Given the description of an element on the screen output the (x, y) to click on. 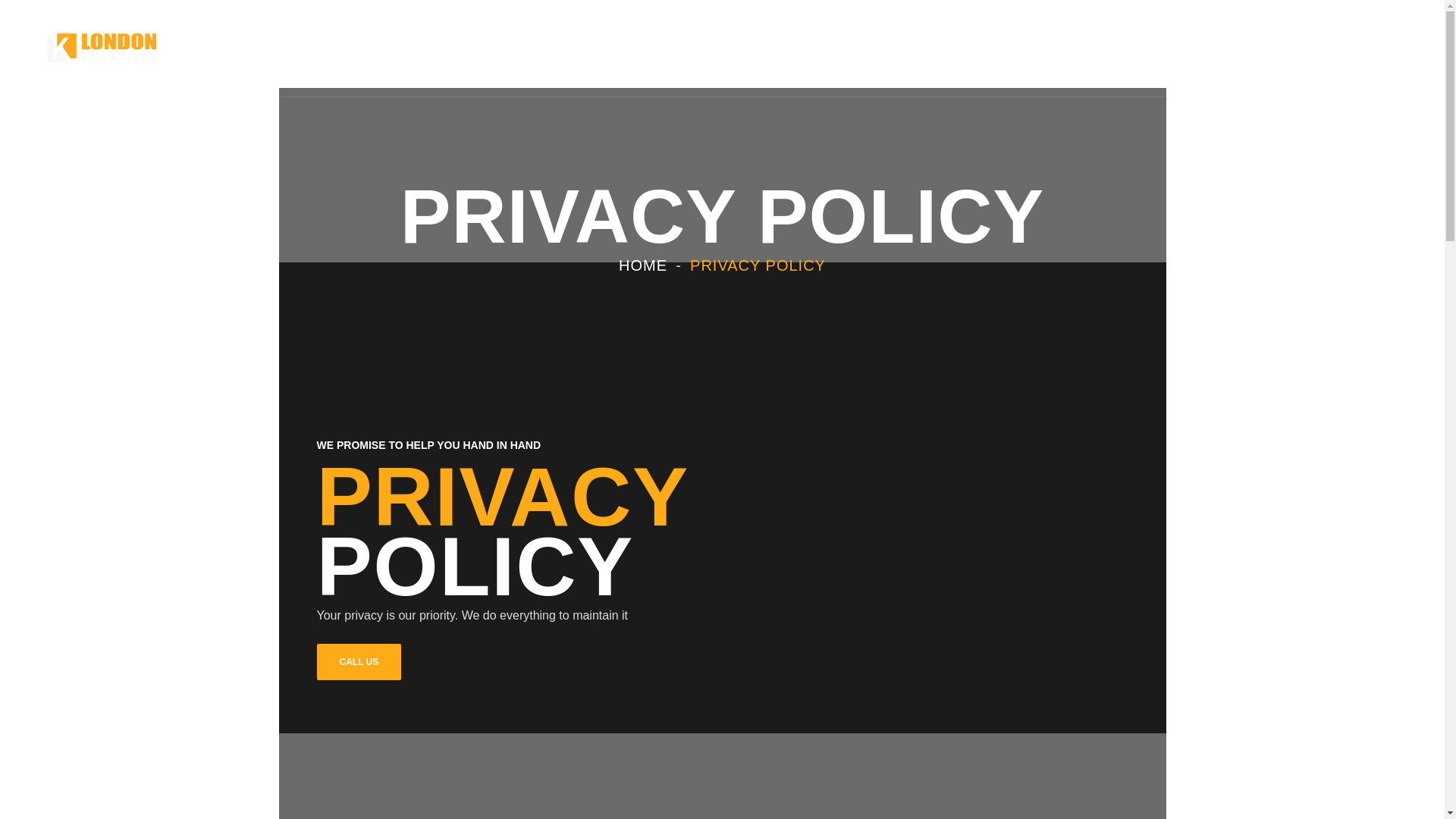
HOME (1311, 42)
PORTFOLIO (190, 42)
DIGITAL MARKETING (1015, 42)
ABOUT US (636, 42)
HOME (285, 42)
CONTACT US (642, 265)
BLOGS (1225, 42)
ACCOUNTING SERVICES (1117, 42)
CALL US (843, 42)
